Given the description of an element on the screen output the (x, y) to click on. 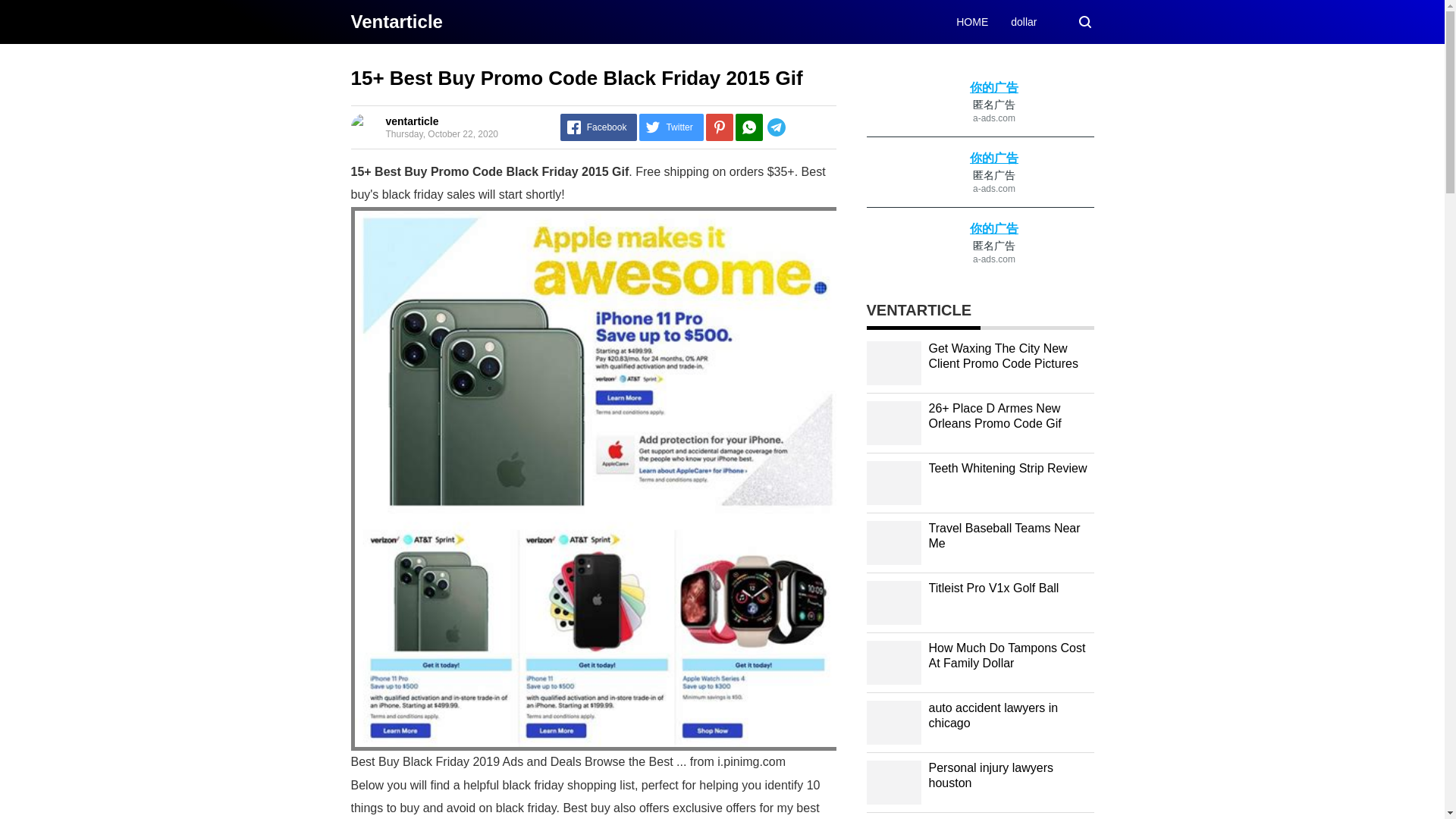
Share to Telegram (798, 126)
author profile (411, 121)
How Much Do Tampons Cost At Family Dollar (1006, 655)
ventarticle (396, 21)
auto accident lawyers in chicago (993, 715)
Get Waxing The City New Client Promo Code Pictures (1002, 356)
Facebook (598, 126)
Twitter (671, 126)
ventarticle (411, 121)
Share on Pinterest (719, 126)
Titleist Pro V1x Golf Ball (993, 587)
HOME (972, 21)
Teeth Whitening Strip Review (1007, 468)
Travel Baseball Teams Near Me (1004, 535)
Telegram (798, 126)
